Given the description of an element on the screen output the (x, y) to click on. 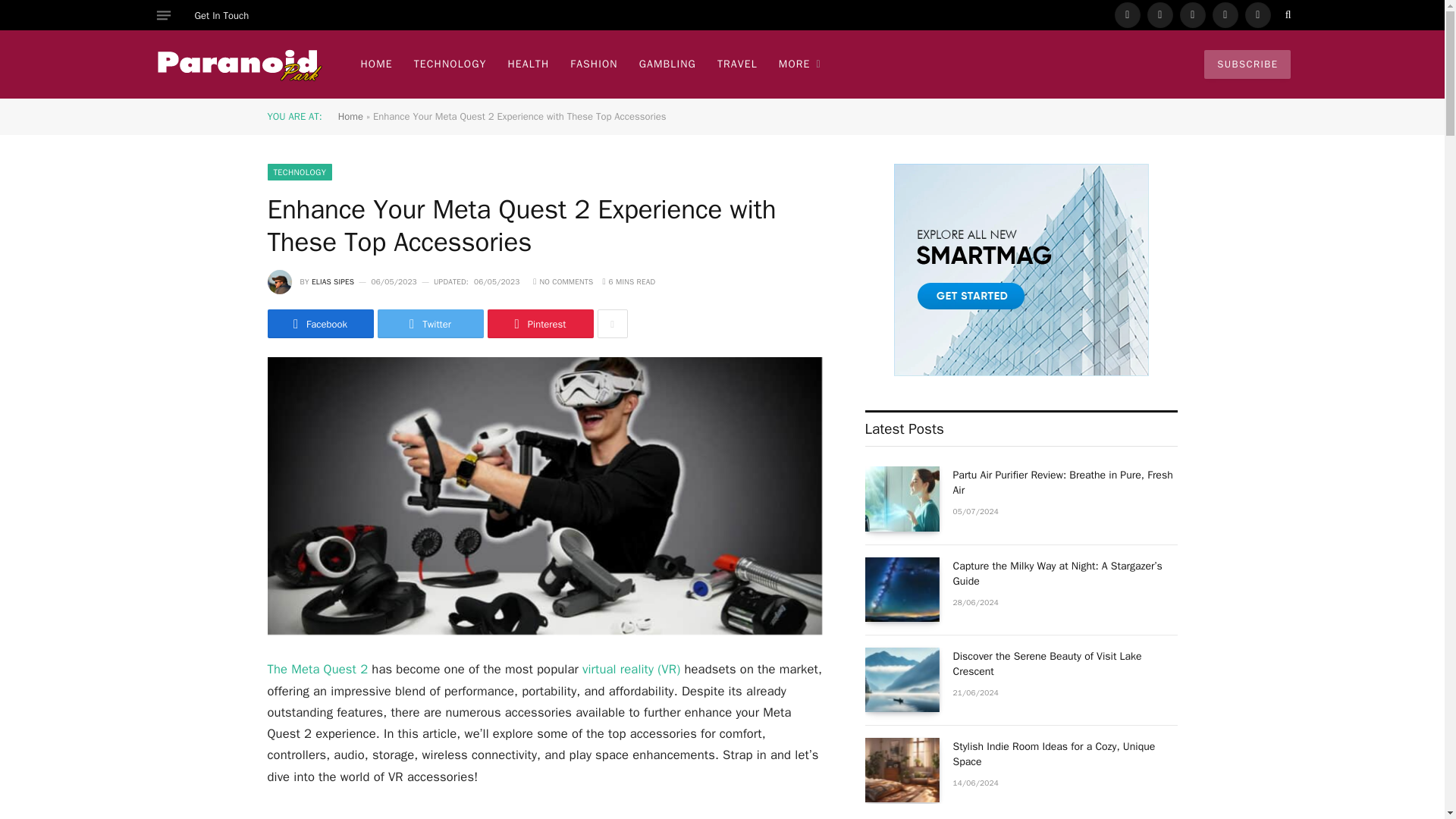
ELIAS SIPES (332, 281)
Facebook (1127, 14)
GAMBLING (667, 64)
Home (349, 115)
Facebook (319, 323)
TRAVEL (737, 64)
Pinterest (1225, 14)
TECHNOLOGY (450, 64)
FASHION (593, 64)
TECHNOLOGY (298, 171)
